Given the description of an element on the screen output the (x, y) to click on. 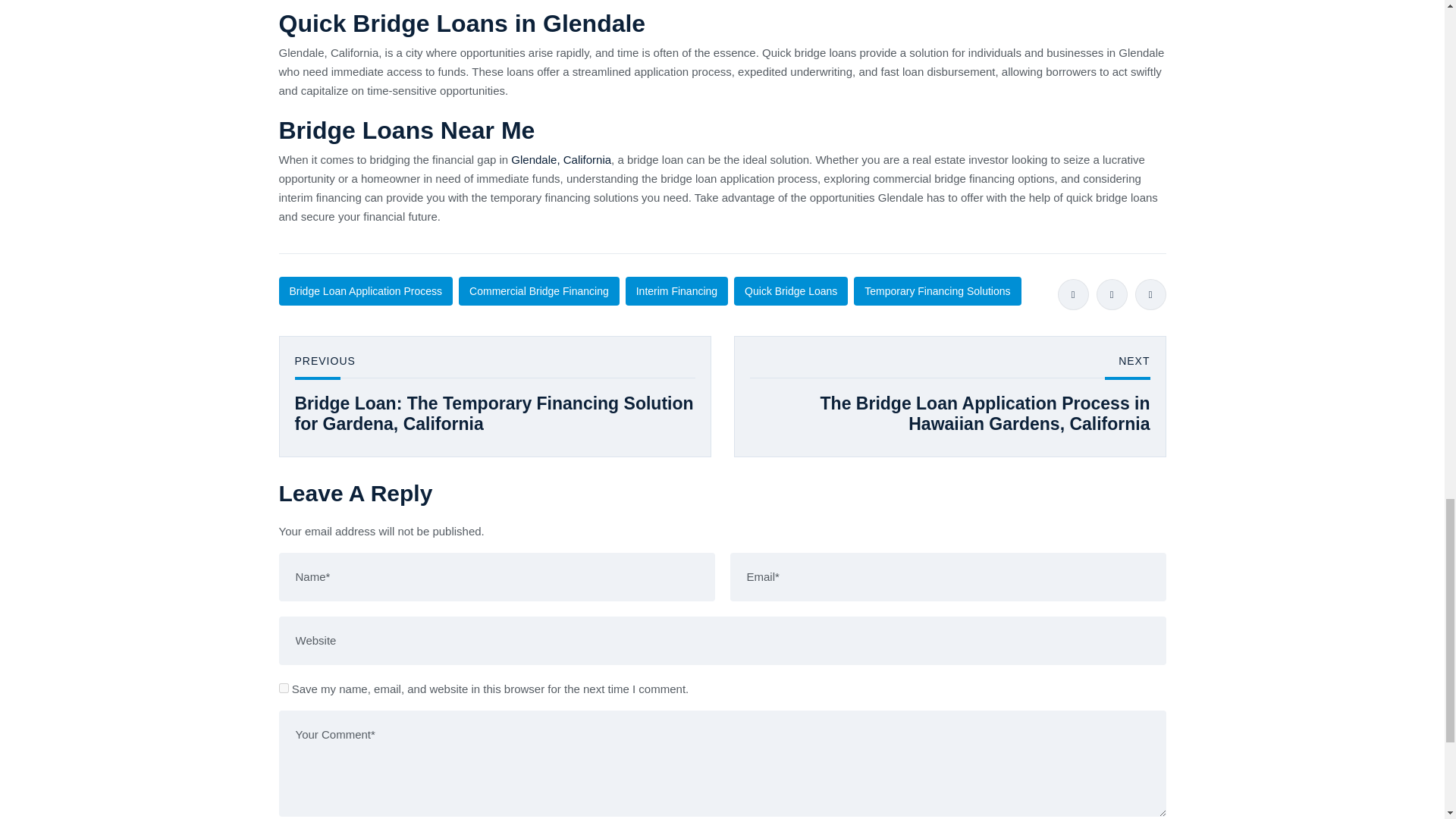
yes (283, 687)
PREVIOUS (324, 364)
Facebook (1072, 294)
Interim Financing (677, 290)
Temporary Financing Solutions (936, 290)
Commercial Bridge Financing (539, 290)
Linkedin (1150, 294)
Twitter (1111, 294)
Quick Bridge Loans (790, 290)
